Given the description of an element on the screen output the (x, y) to click on. 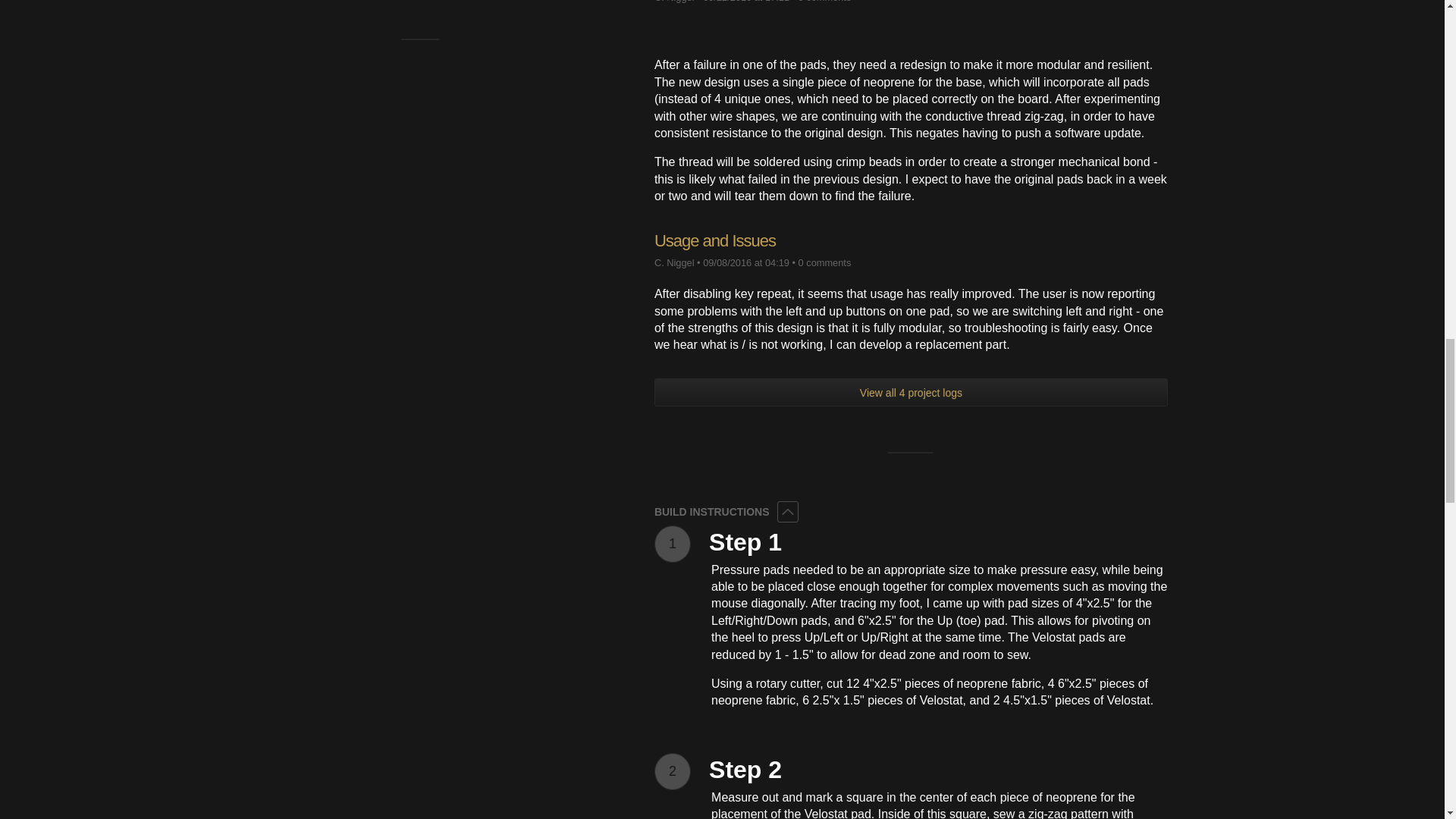
8 years ago (746, 1)
8 years ago (746, 262)
